Given the description of an element on the screen output the (x, y) to click on. 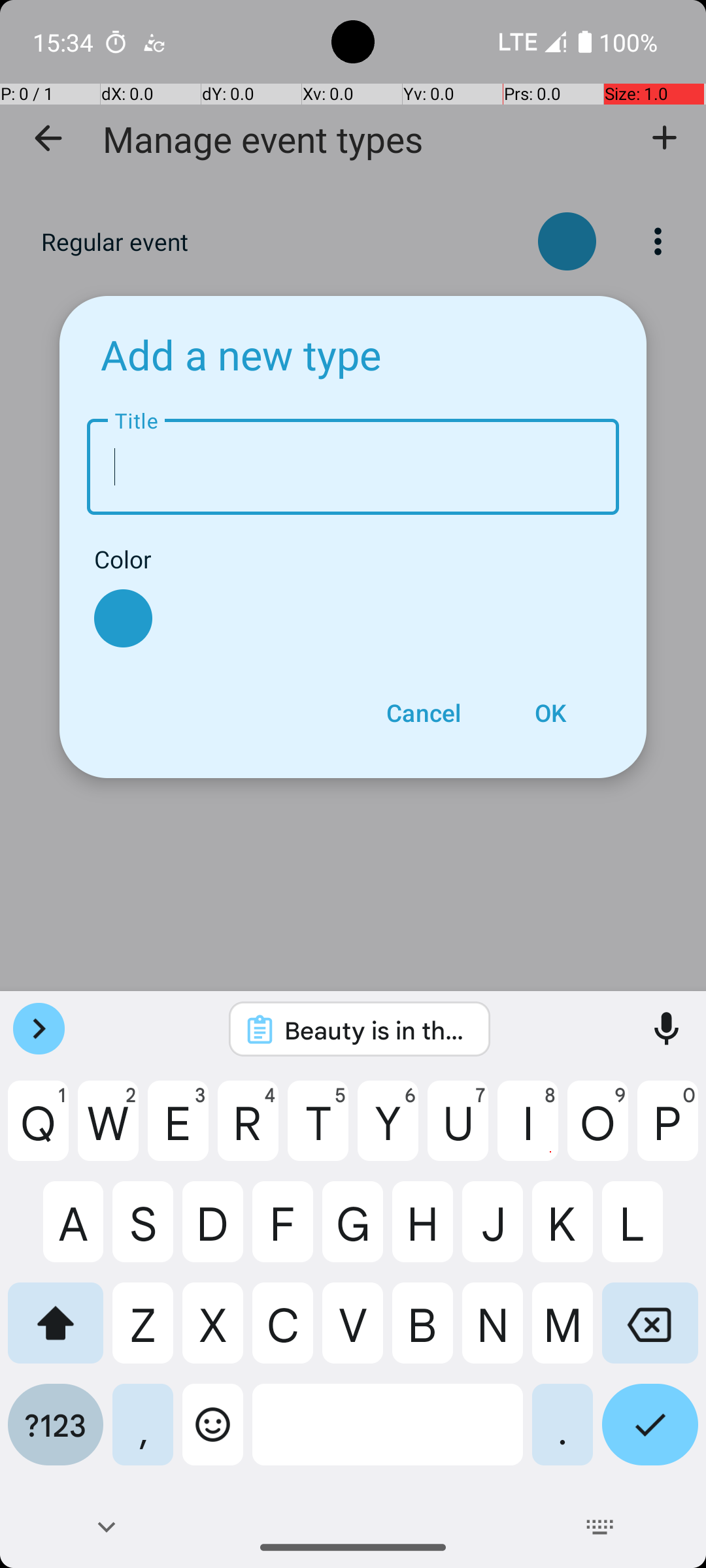
Add a new type Element type: android.widget.TextView (240, 354)
Beauty is in the eye of the beholder. Element type: android.widget.TextView (376, 1029)
